Given the description of an element on the screen output the (x, y) to click on. 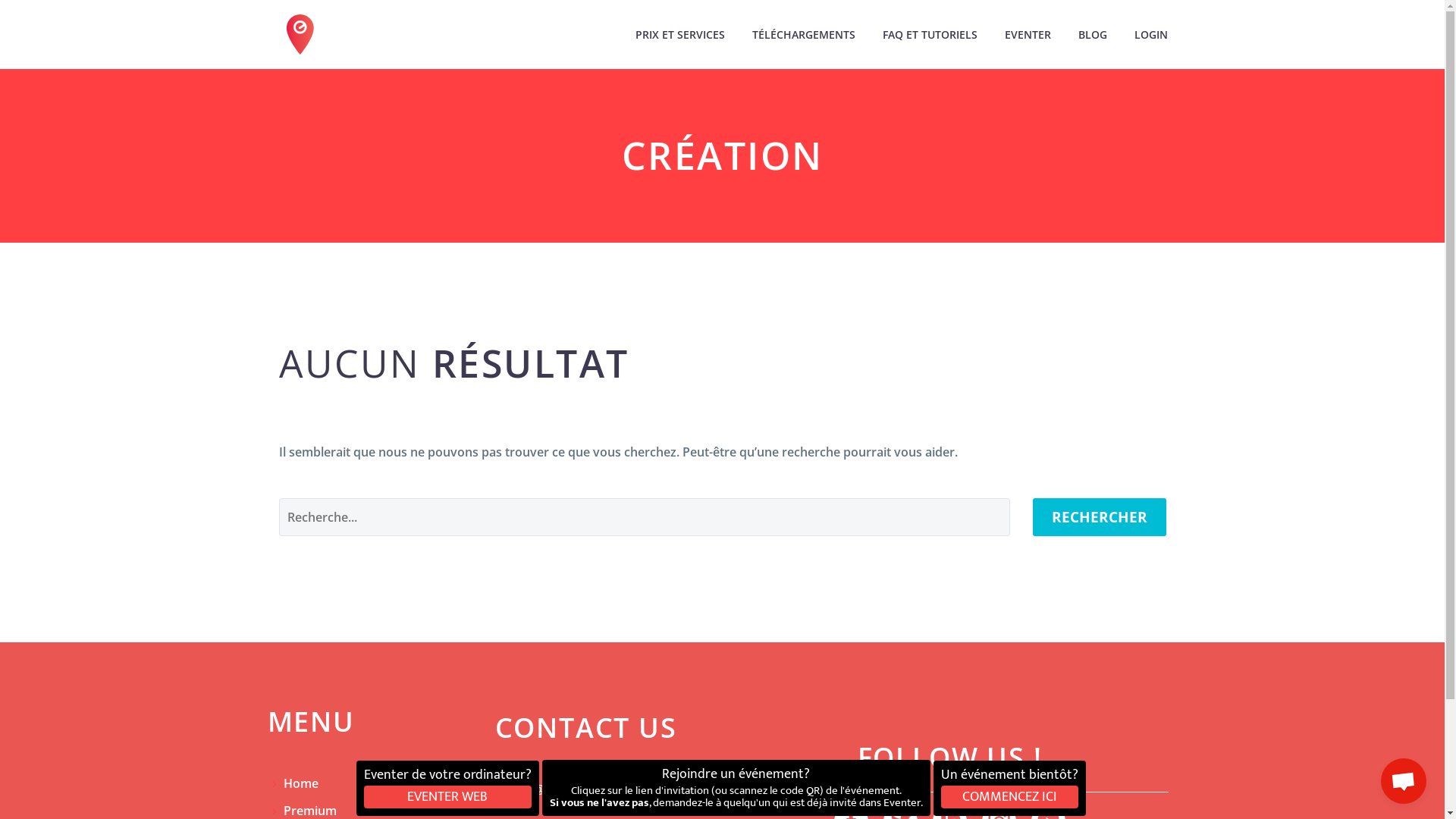
EVENTER WEB Element type: text (447, 796)
LOGIN Element type: text (1150, 34)
COMMENCEZ ICI Element type: text (1008, 796)
RECHERCHER Element type: text (1099, 517)
PRIX ET SERVICES Element type: text (679, 34)
EVENTER Element type: text (1027, 34)
Home Element type: text (300, 783)
BLOG Element type: text (1091, 34)
FAQ ET TUTORIELS Element type: text (929, 34)
